Given the description of an element on the screen output the (x, y) to click on. 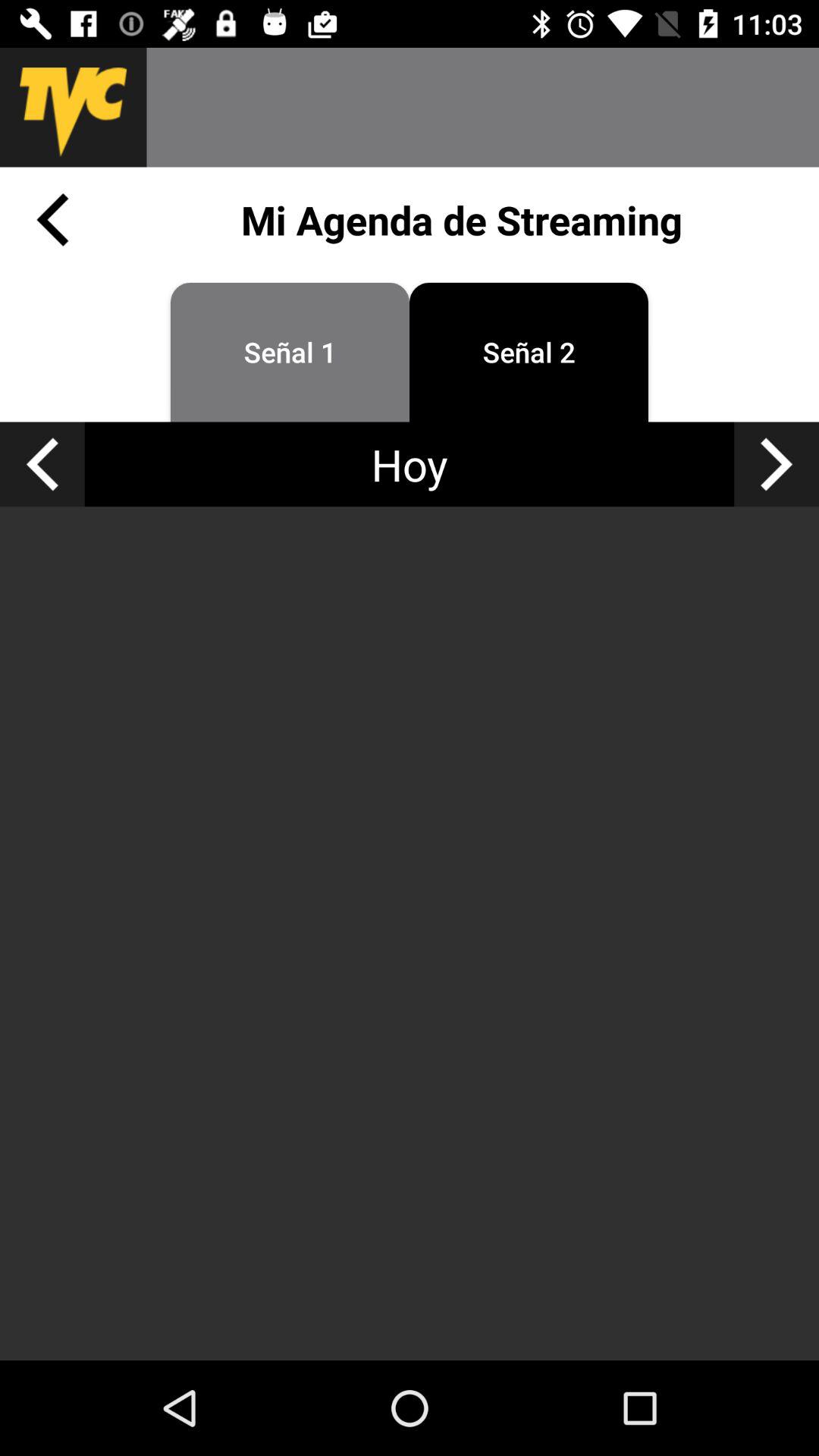
open icon below the mi agenda de app (528, 352)
